Given the description of an element on the screen output the (x, y) to click on. 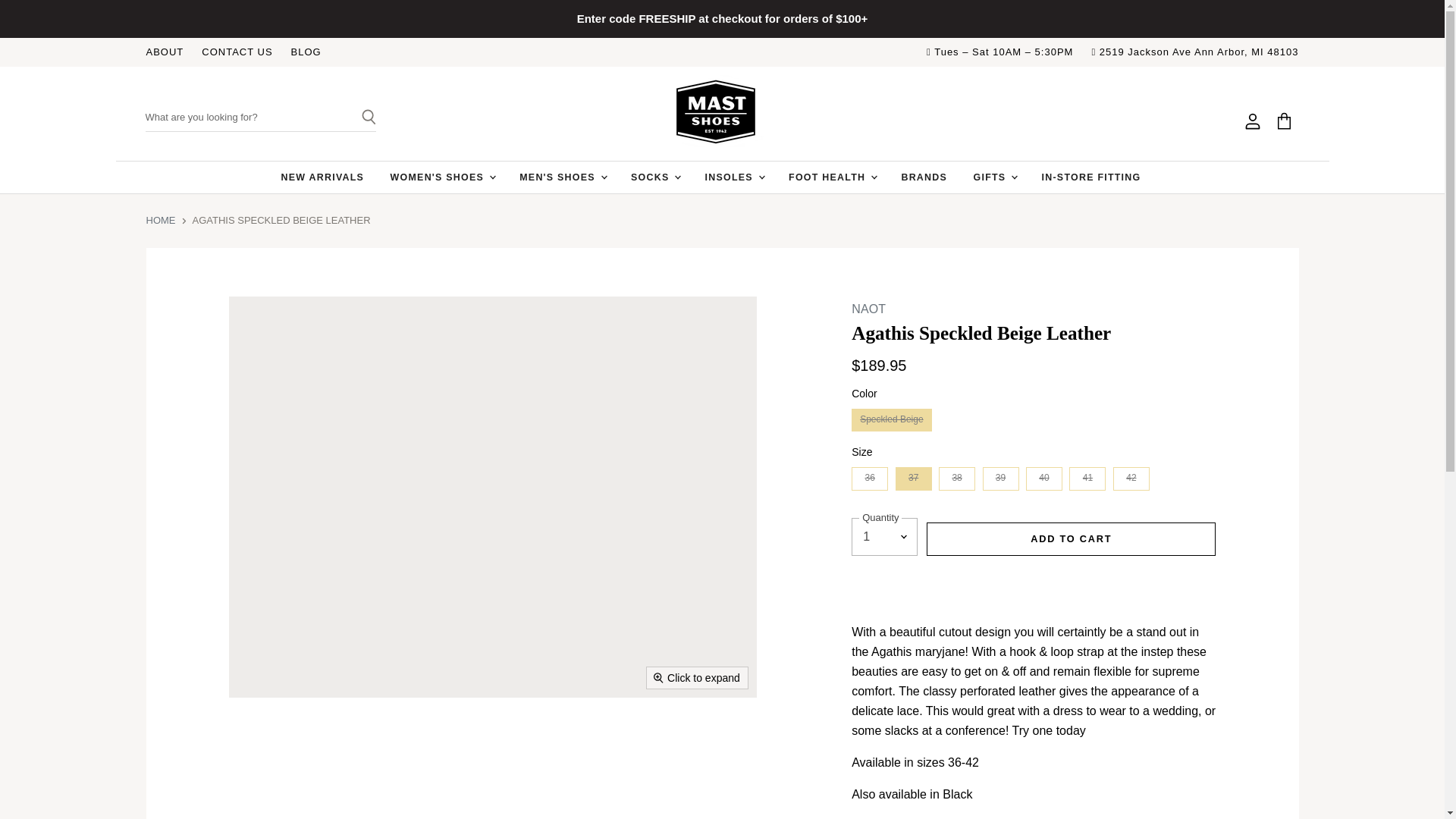
CONTACT US (237, 52)
BLOG (306, 52)
ABOUT (164, 52)
WOMEN'S SHOES (441, 177)
View account (1252, 121)
Naot (868, 308)
NEW ARRIVALS (322, 177)
